Given the description of an element on the screen output the (x, y) to click on. 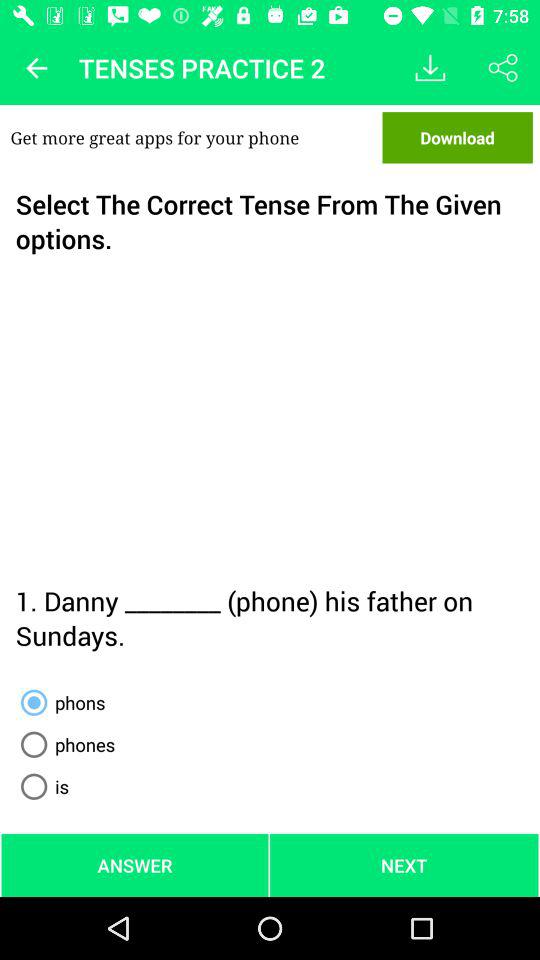
press the icon to the left of the next item (134, 864)
